Given the description of an element on the screen output the (x, y) to click on. 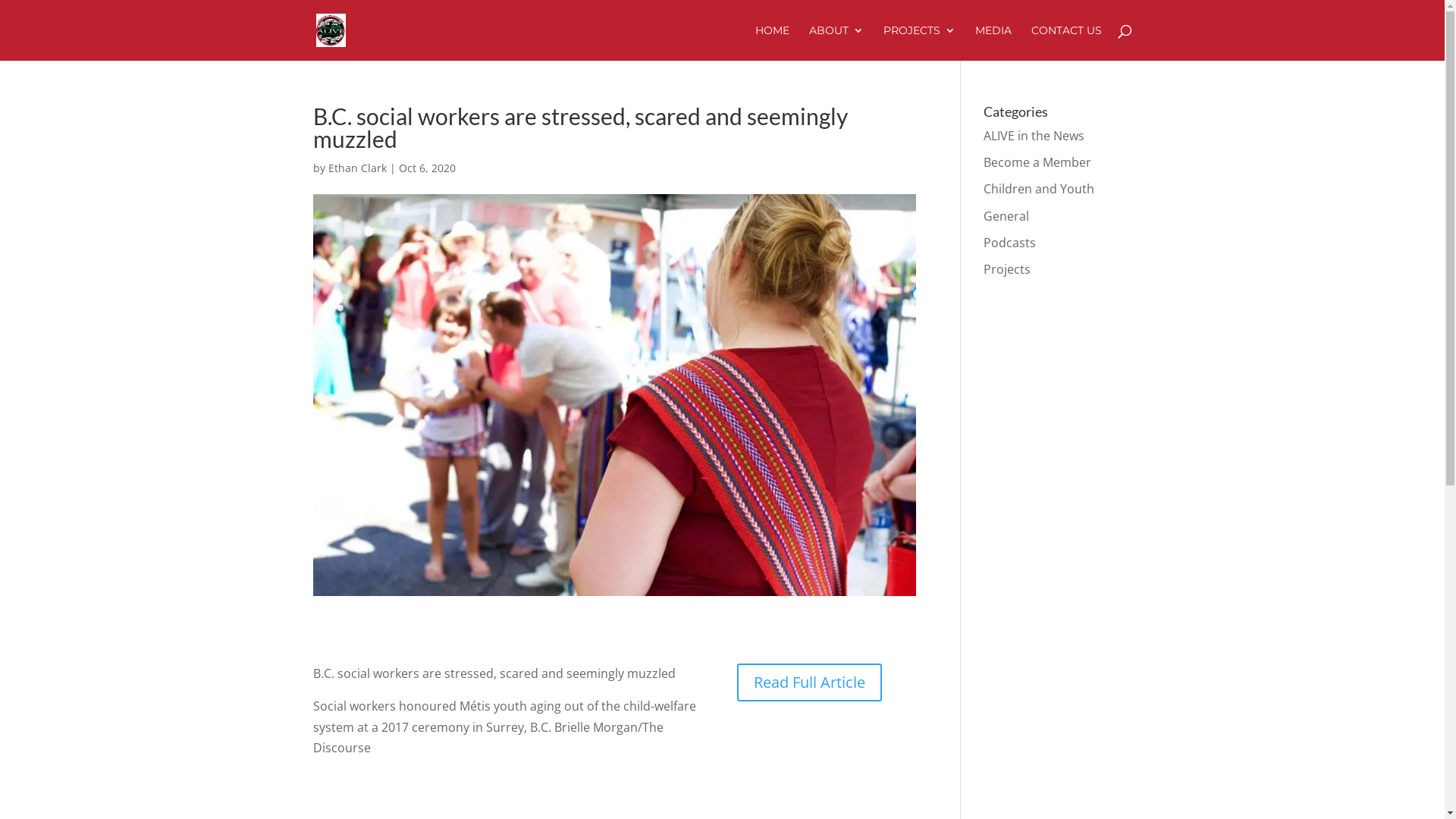
ABOUT Element type: text (835, 42)
Read Full Article Element type: text (809, 682)
Ethan Clark Element type: text (356, 167)
Podcasts Element type: text (1009, 242)
MEDIA Element type: text (993, 42)
Projects Element type: text (1006, 268)
ALIVE in the News Element type: text (1033, 135)
HOME Element type: text (772, 42)
PROJECTS Element type: text (918, 42)
CONTACT US Element type: text (1066, 42)
Become a Member Element type: text (1037, 161)
General Element type: text (1006, 215)
Children and Youth Element type: text (1038, 188)
